Given the description of an element on the screen output the (x, y) to click on. 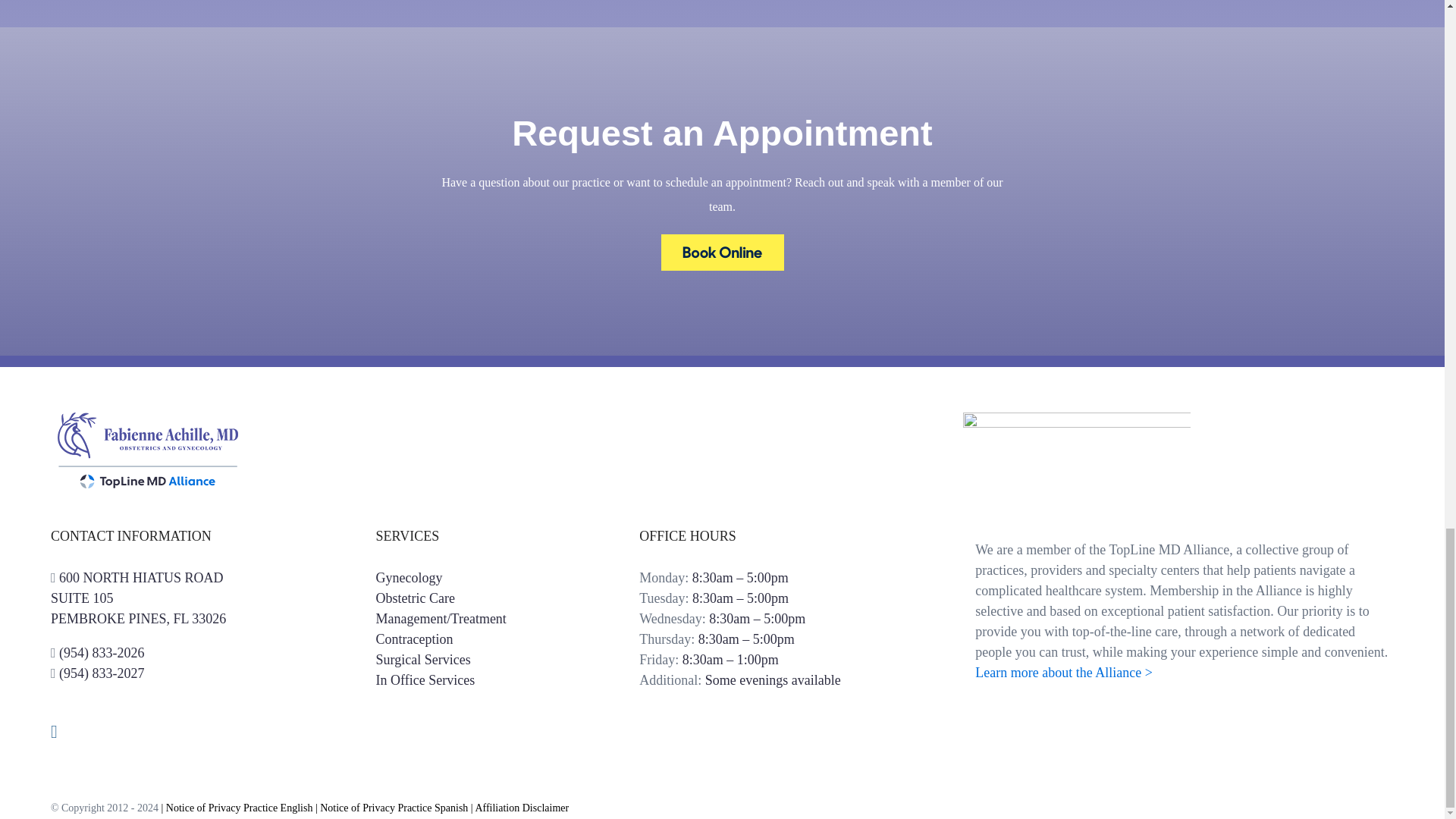
In Office Services (425, 679)
Contraception (413, 639)
Fabienne Achille MD LLC (137, 598)
Obstetric Care (722, 245)
Gynecology (414, 598)
Surgical Services (408, 577)
Fabienne Achille MD LLC (422, 659)
